Given the description of an element on the screen output the (x, y) to click on. 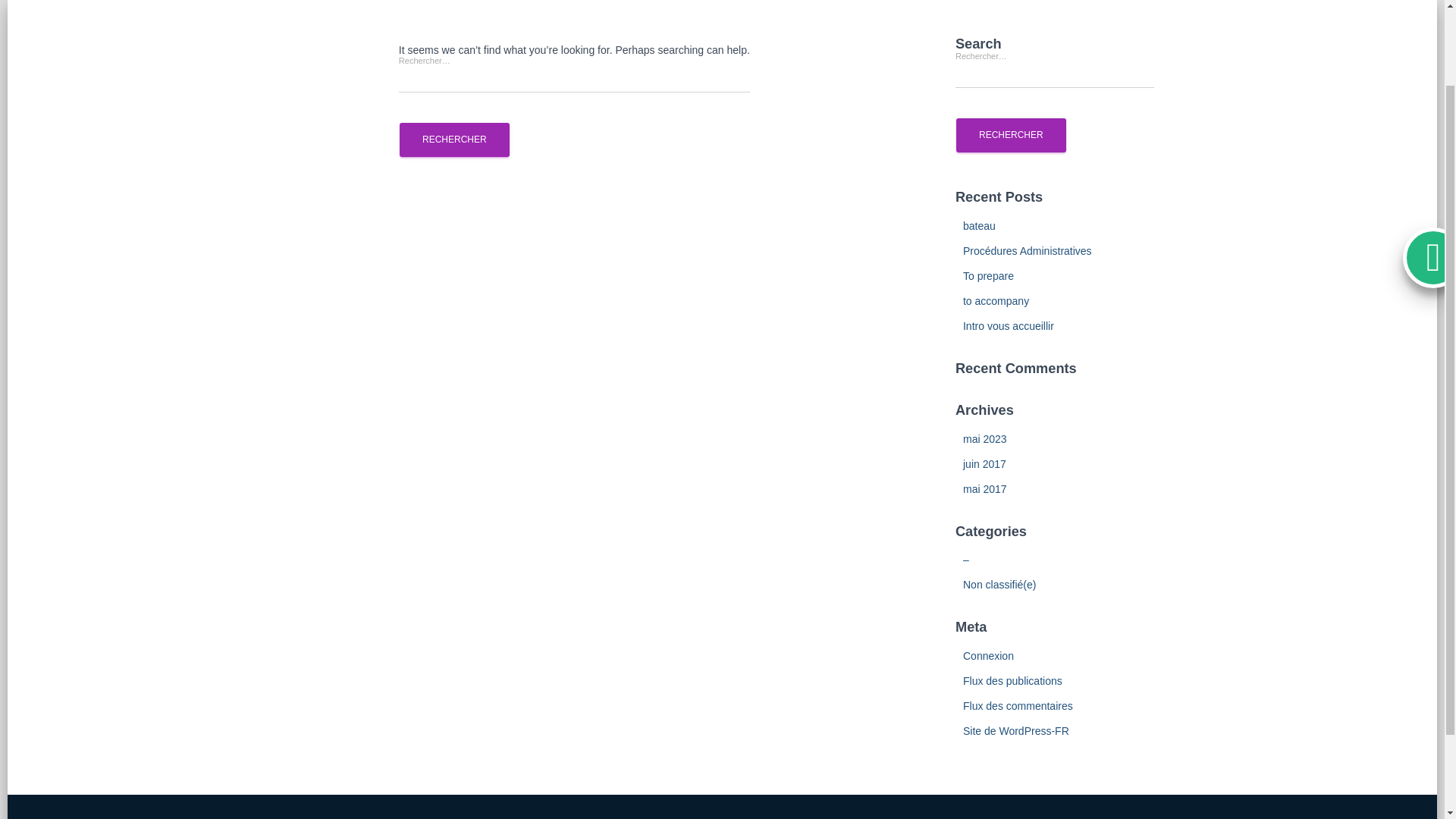
mai 2023 (984, 439)
Rechercher (1010, 134)
Rechercher (453, 139)
Flux des commentaires (1017, 705)
Rechercher (453, 139)
Rechercher (1010, 134)
juin 2017 (984, 463)
Connexion (987, 655)
mai 2017 (984, 489)
To prepare (987, 275)
to accompany (995, 300)
bateau (978, 225)
Flux des publications (1012, 680)
Intro vous accueillir (1008, 326)
Rechercher (453, 139)
